Given the description of an element on the screen output the (x, y) to click on. 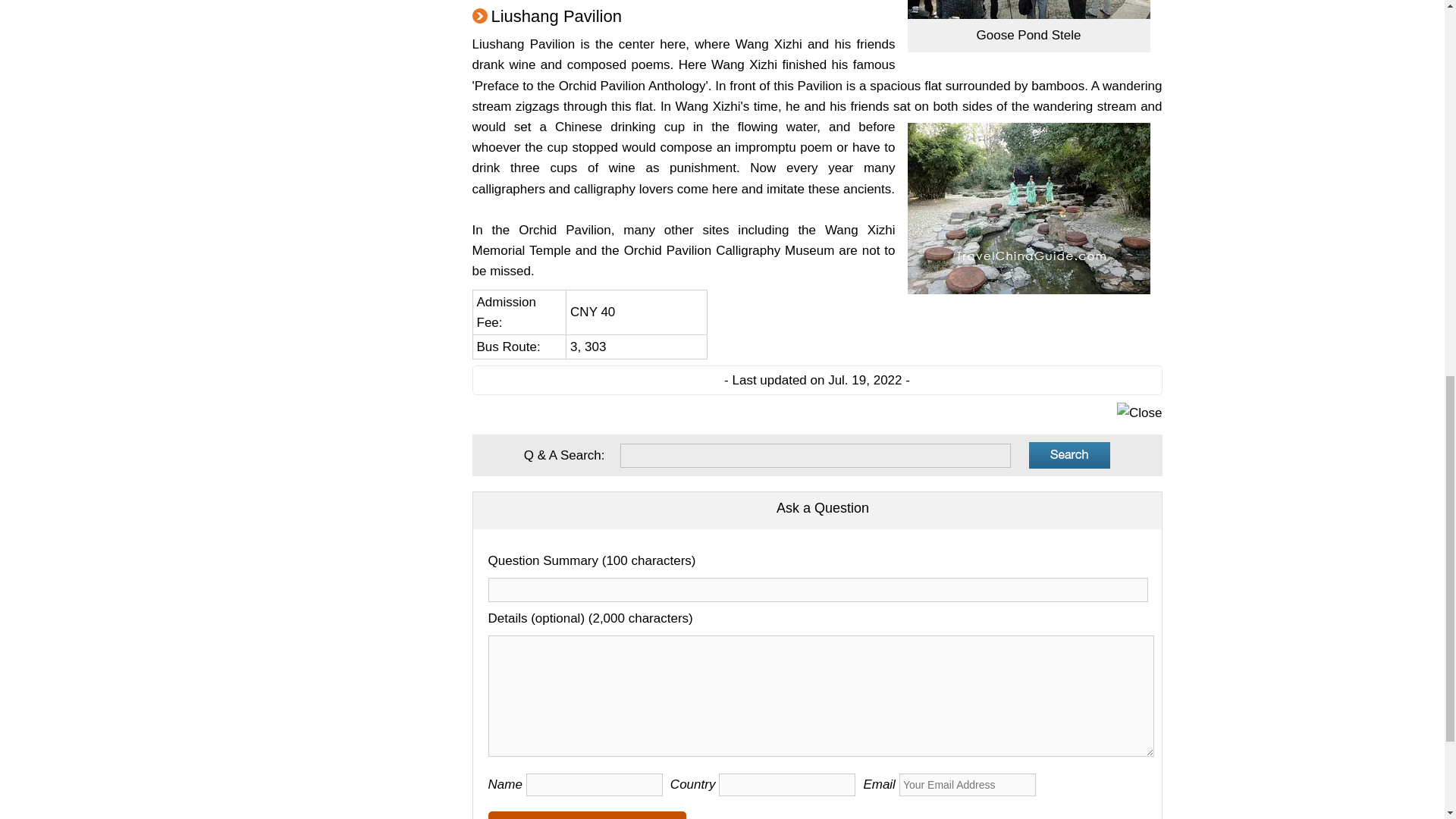
Close (1138, 412)
